Given the description of an element on the screen output the (x, y) to click on. 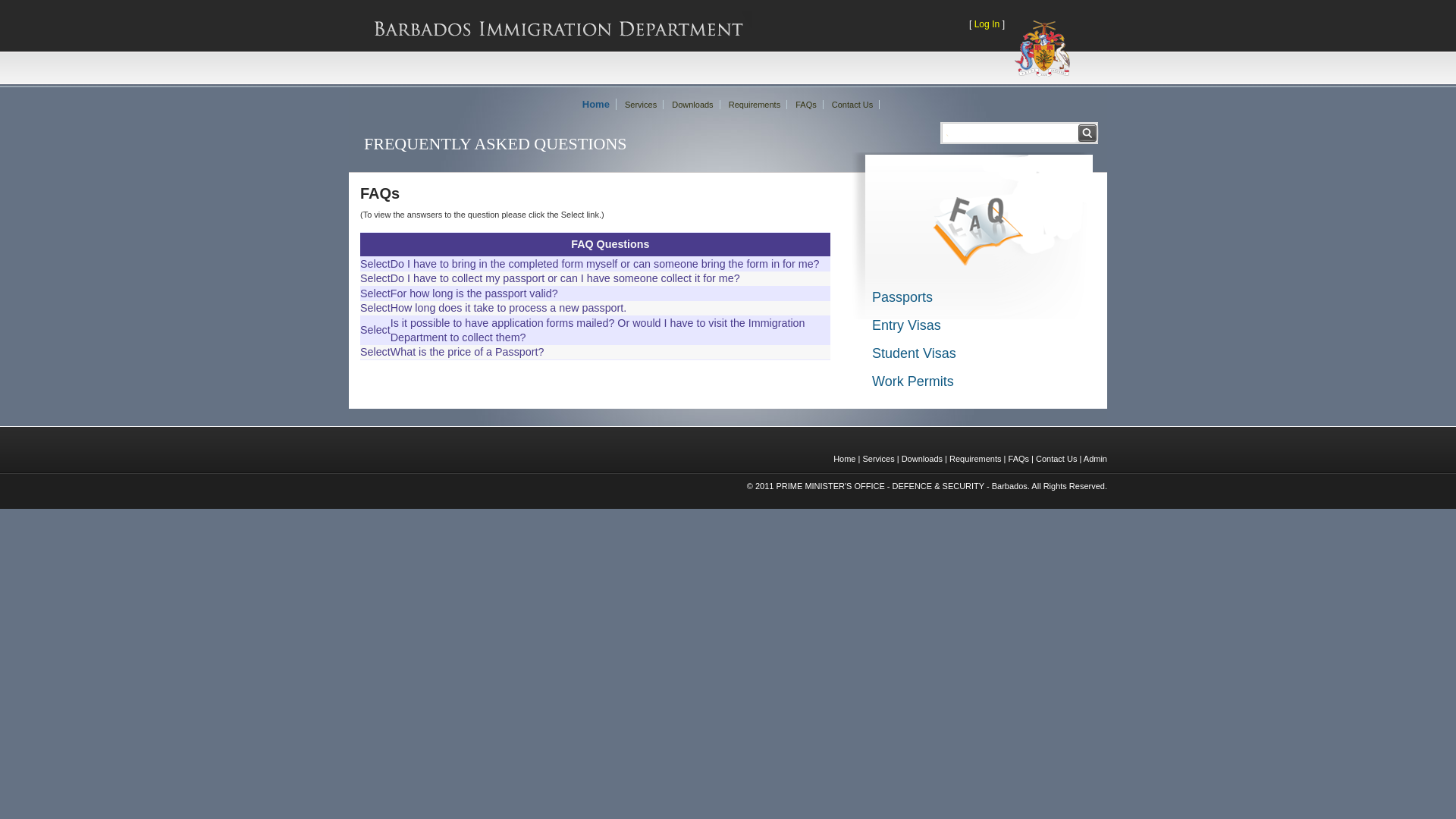
Contact Us Element type: text (1055, 458)
Requirements Element type: text (975, 458)
Entry Visas Element type: text (906, 324)
Select Element type: text (375, 293)
Admin Element type: text (1095, 458)
Services Element type: text (640, 104)
Select Element type: text (375, 307)
Select Element type: text (375, 278)
Requirements Element type: text (754, 104)
Student Visas Element type: text (914, 352)
Passports Element type: text (902, 296)
Log In Element type: text (987, 23)
Home Element type: text (596, 103)
Downloads Element type: text (921, 458)
FAQs Element type: text (806, 104)
Work Permits Element type: text (912, 381)
Contact Us Element type: text (852, 104)
Select Element type: text (375, 329)
Home Element type: text (844, 458)
Select Element type: text (375, 263)
FAQs Element type: text (1018, 458)
Services Element type: text (878, 458)
Select Element type: text (375, 351)
Downloads Element type: text (692, 104)
